Given the description of an element on the screen output the (x, y) to click on. 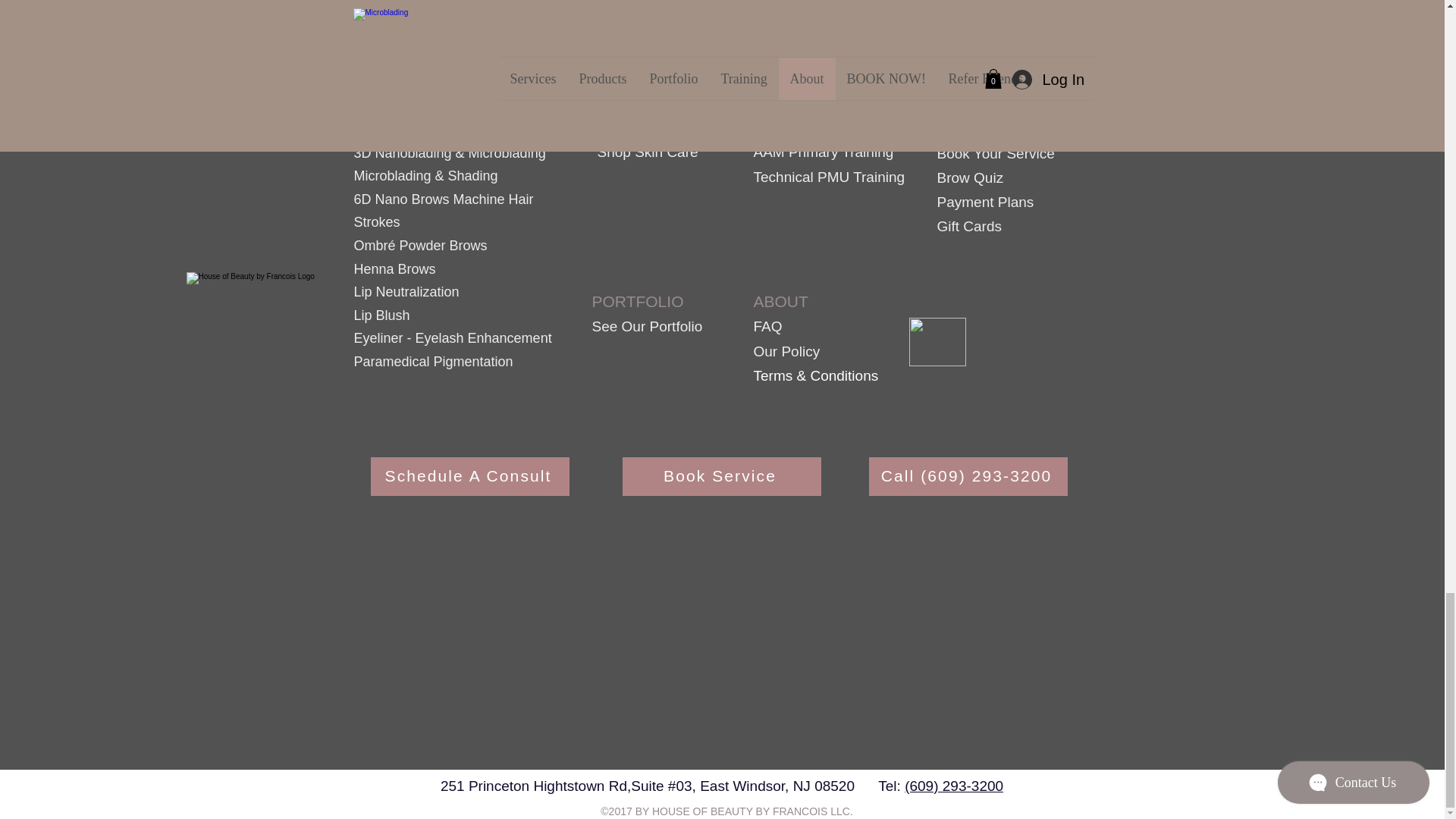
Paramedical Pigmentation (432, 361)
Eyeliner - Eyelash Enhancement (452, 337)
Henna Brows  (396, 268)
SERVICES (393, 125)
Lip Blush (381, 314)
PRODUCTS (641, 126)
Lip Neutralization (405, 291)
6D Nano Brows Machine Hair Strokes (442, 210)
